Given the description of an element on the screen output the (x, y) to click on. 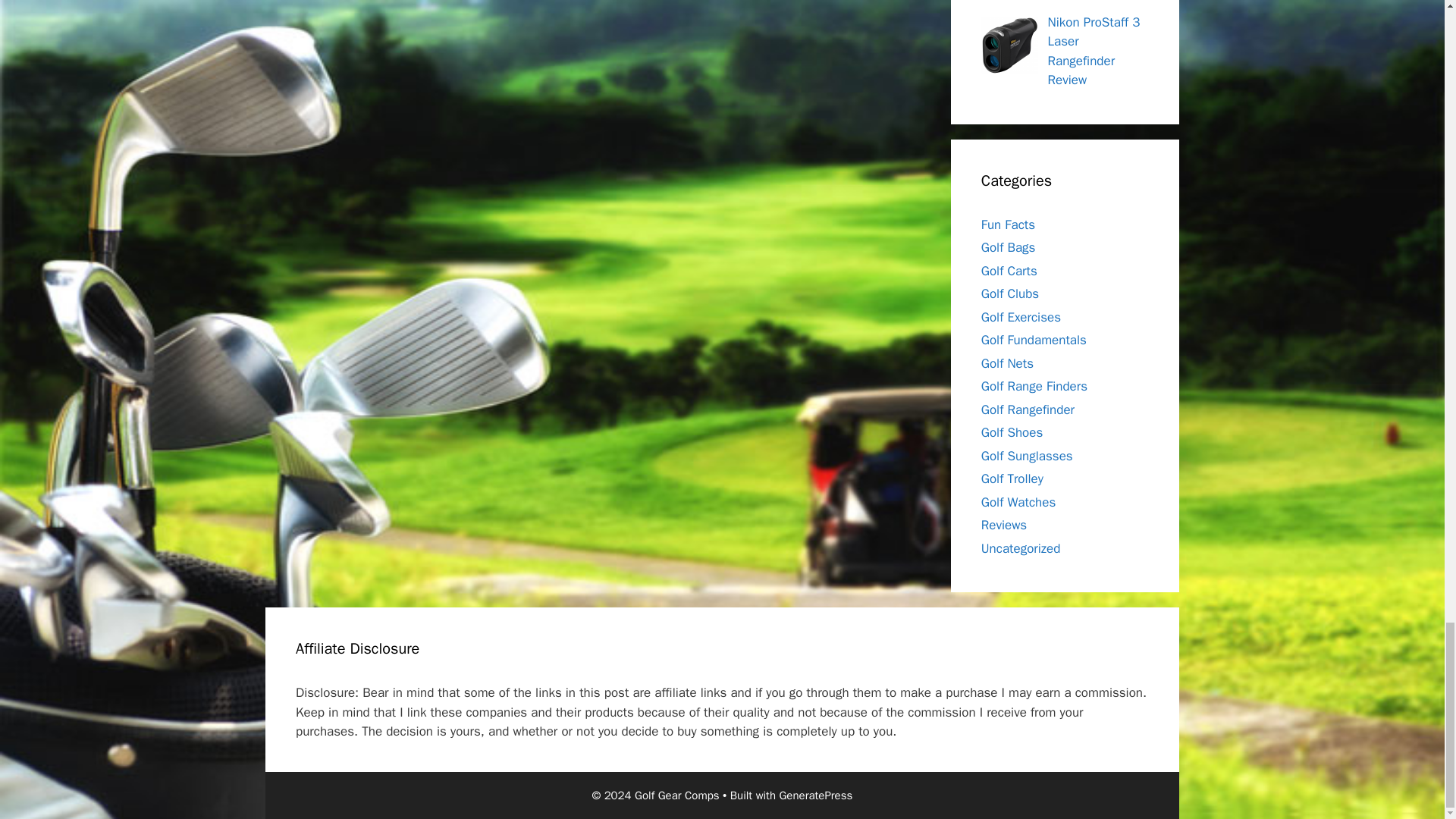
Find the best golf shoes article information here. (1011, 432)
Find some of the best golf clubs information here. (1010, 293)
Find some of the best Golf Range Finder information here. (1027, 409)
